Given the description of an element on the screen output the (x, y) to click on. 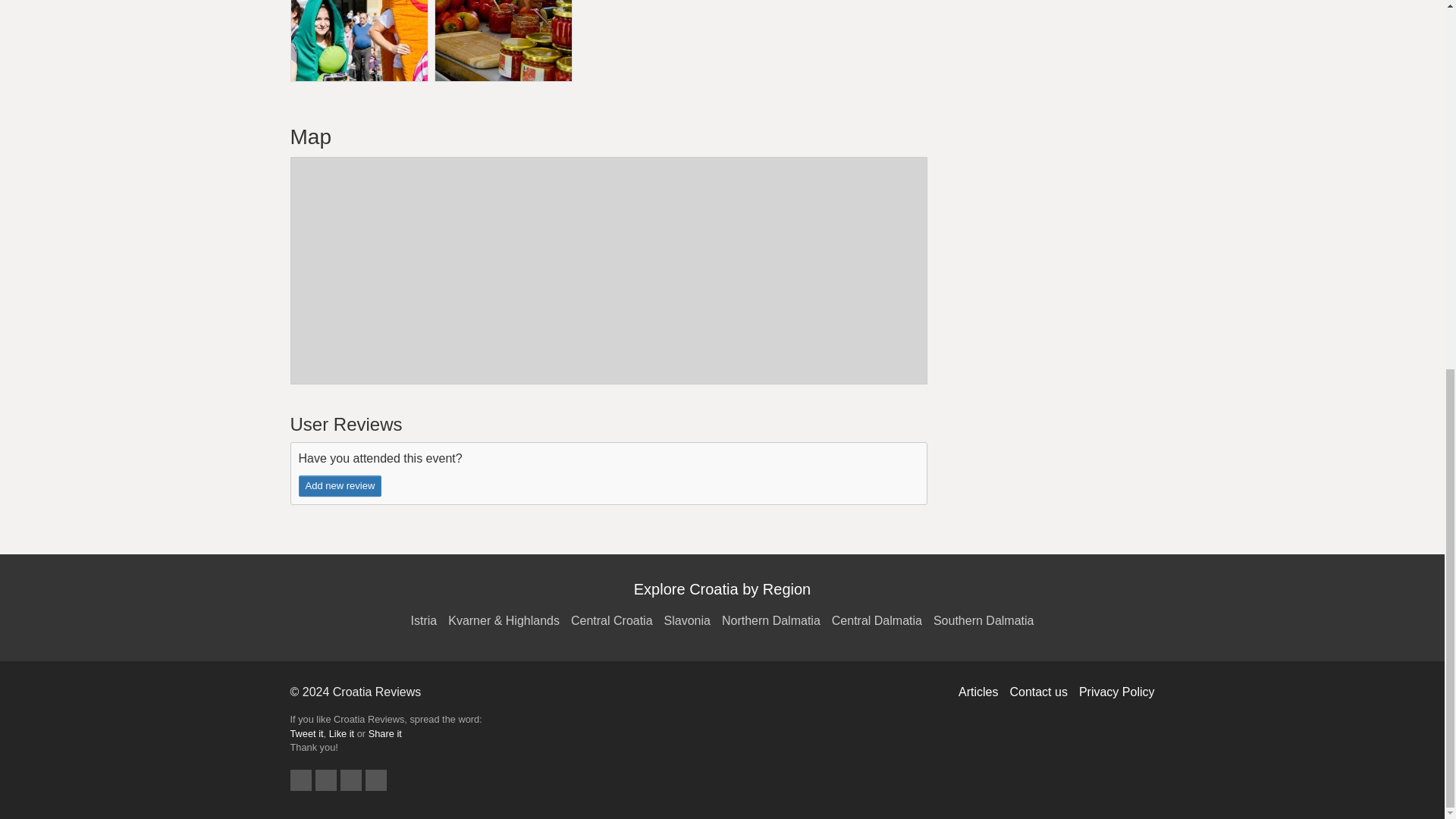
Get updates via RSS (376, 780)
Southern Dalmatia (983, 620)
Tweet it (306, 732)
Articles (983, 692)
Slavonia (692, 620)
Add new review (339, 485)
Central Croatia (616, 620)
Privacy Policy (1116, 692)
Become a Fan on Facebook (325, 780)
Central Dalmatia (882, 620)
